Given the description of an element on the screen output the (x, y) to click on. 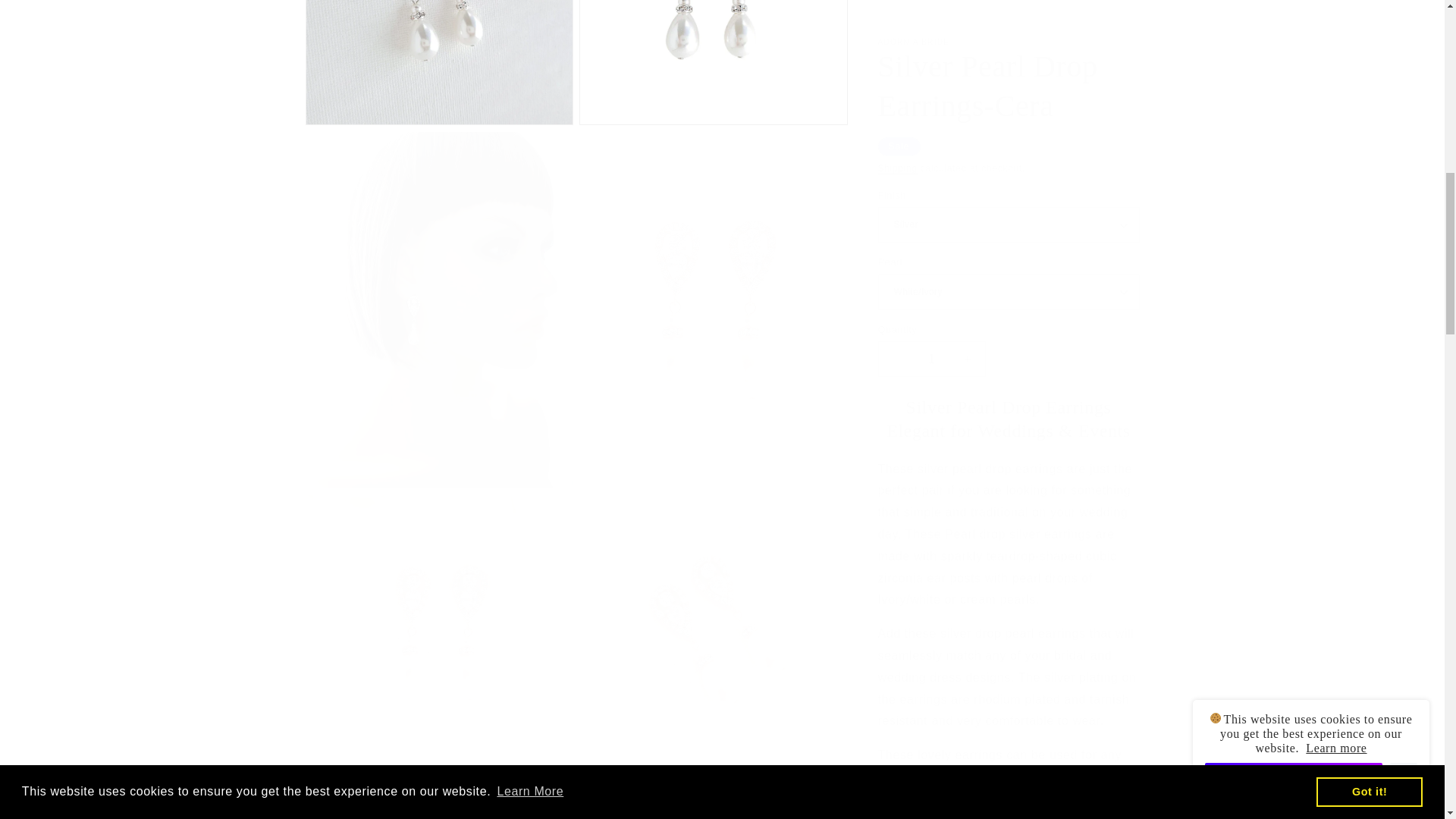
Open media 3 in modal (713, 54)
Open media 2 in modal (438, 54)
Open media 9 in modal (713, 785)
Open media 7 in modal (713, 613)
Open media 6 in modal (438, 613)
Open media 8 in modal (438, 785)
